Given the description of an element on the screen output the (x, y) to click on. 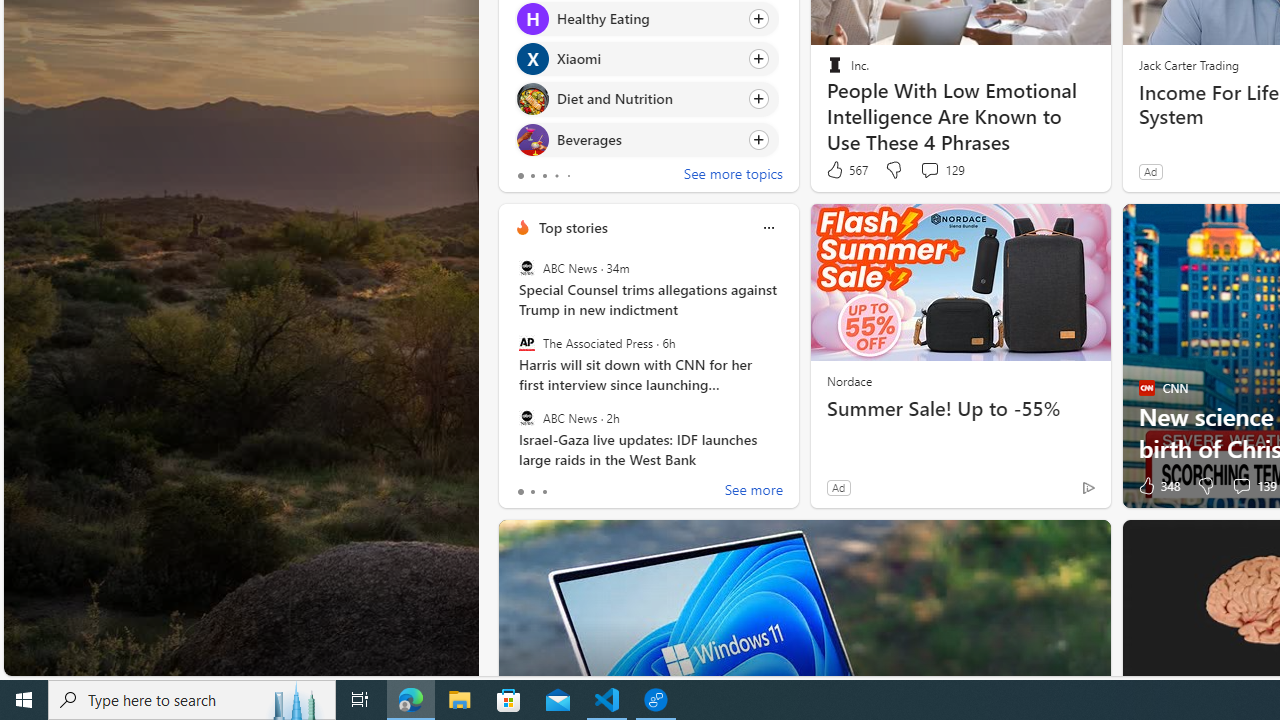
Click to follow topic Xiaomi (646, 59)
tab-3 (556, 175)
Top stories (572, 227)
tab-0 (520, 491)
Click to follow topic Diet and Nutrition (646, 99)
567 Like (845, 170)
Summer Sale! Up to -55% (959, 408)
Beverages (532, 139)
Click to follow topic Healthy Eating (646, 18)
tab-1 (532, 491)
